Given the description of an element on the screen output the (x, y) to click on. 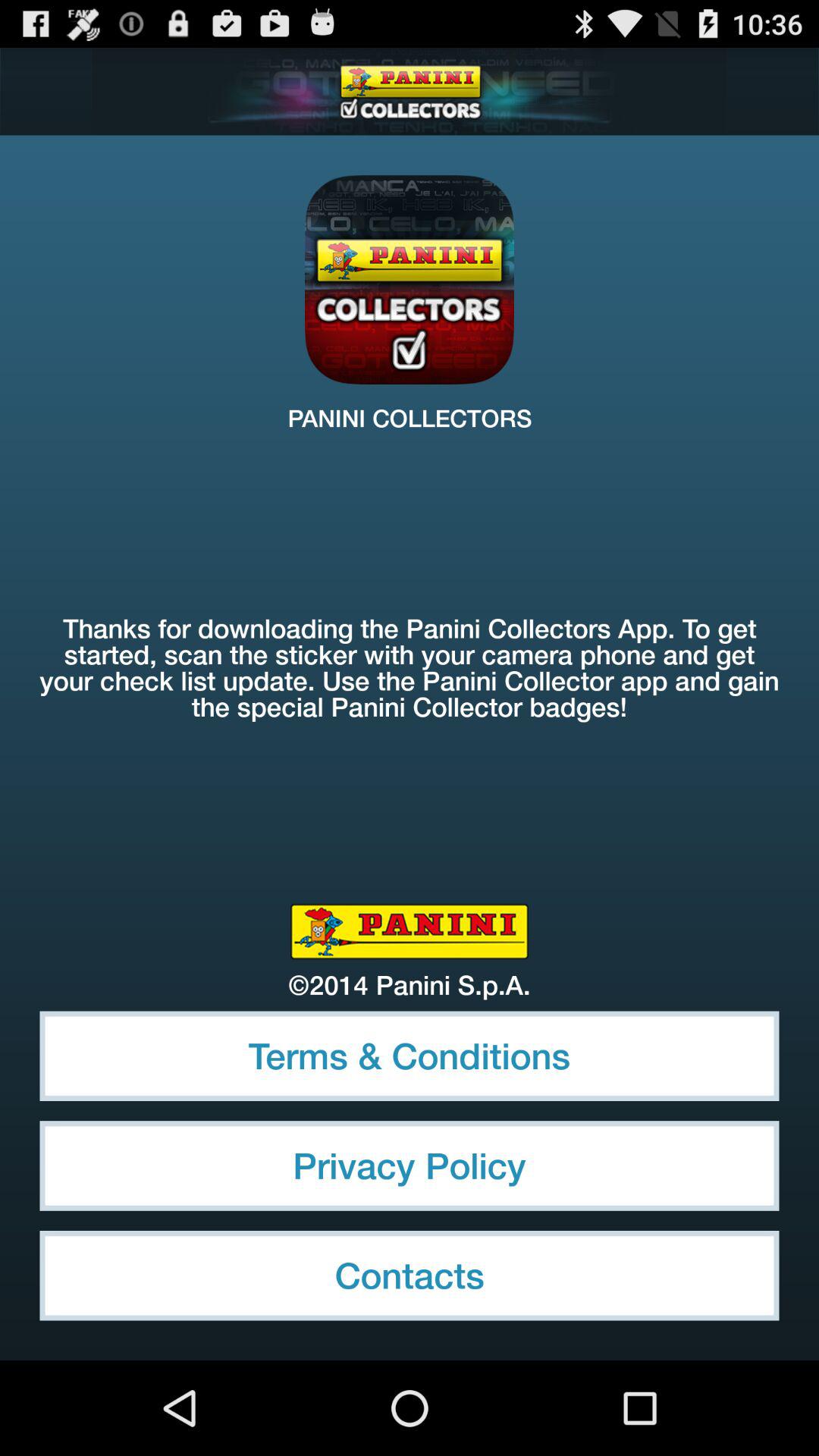
turn on the item below privacy policy icon (409, 1275)
